Given the description of an element on the screen output the (x, y) to click on. 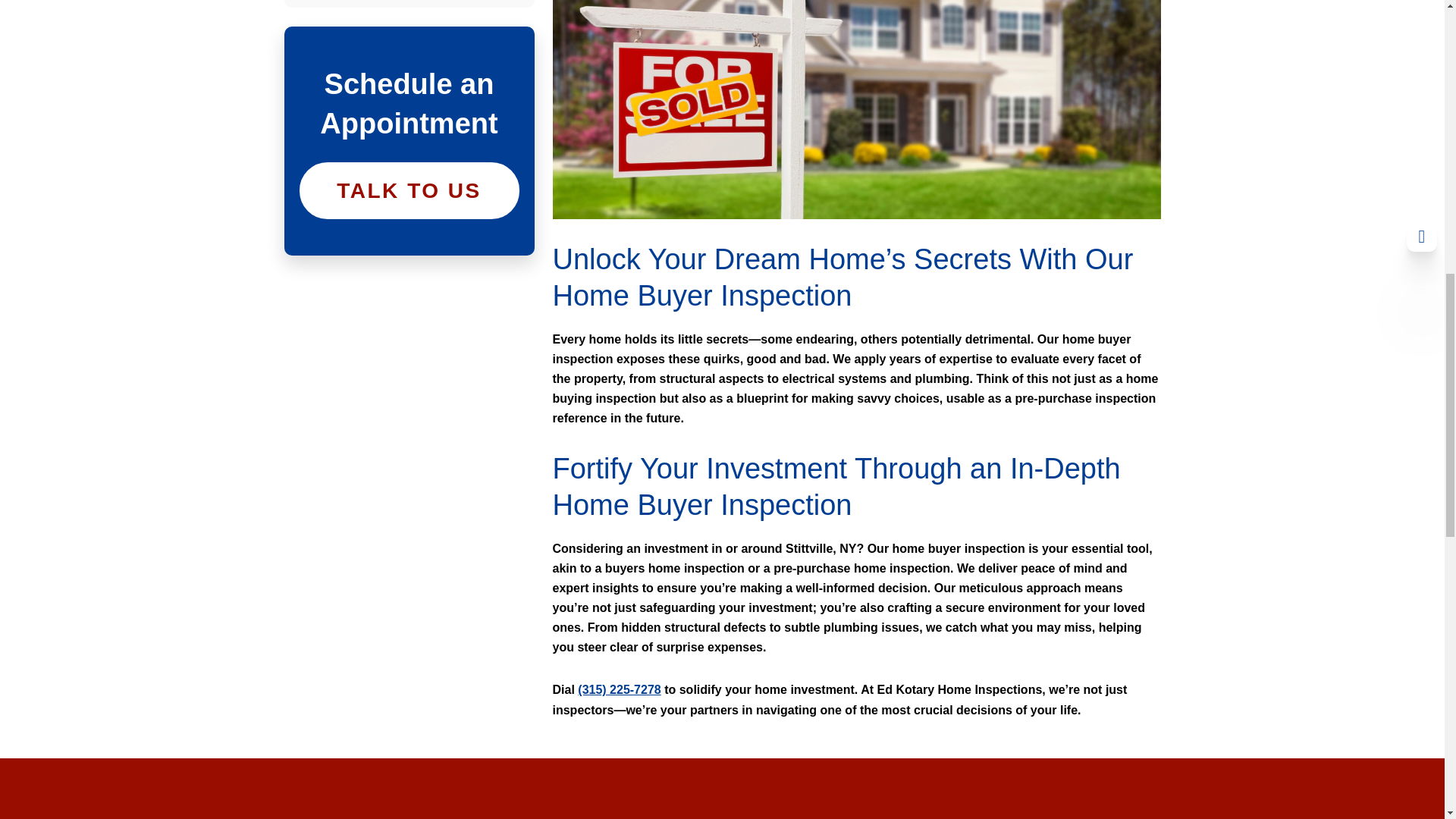
Image 30 (855, 109)
